Given the description of an element on the screen output the (x, y) to click on. 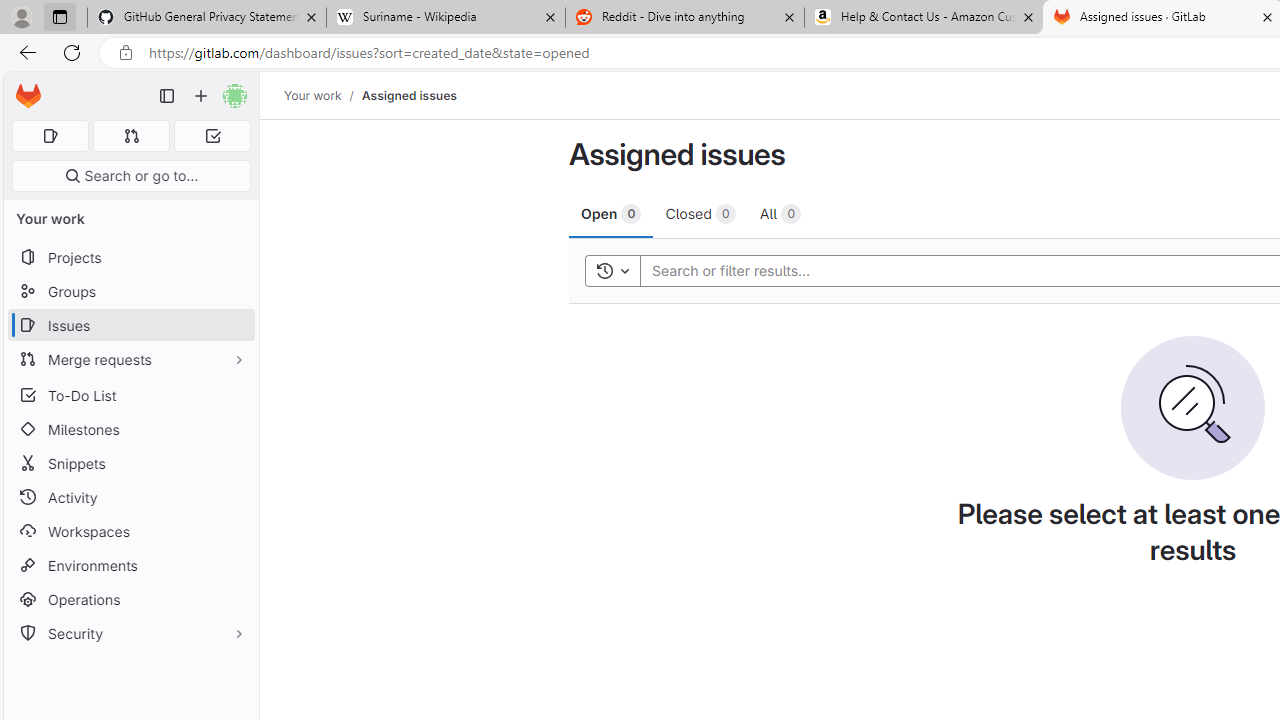
Assigned issues 0 (50, 136)
Reddit - Dive into anything (684, 17)
Milestones (130, 429)
Create new... (201, 96)
Toggle history (612, 270)
To-Do List (130, 394)
